Given the description of an element on the screen output the (x, y) to click on. 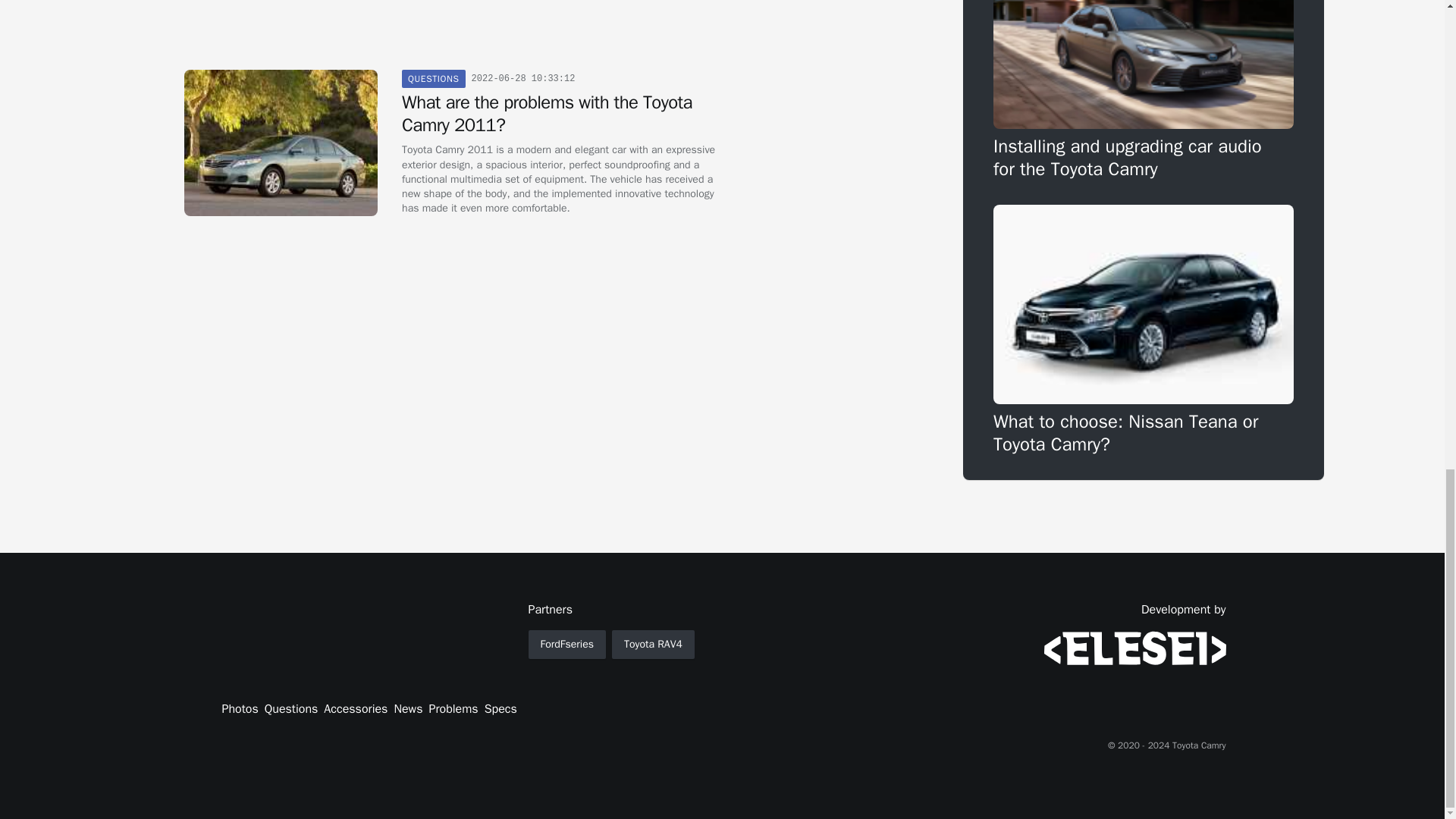
Installing and upgrading car audio for the Toyota Camry (1143, 90)
Specs (500, 708)
What to choose: Nissan Teana or Toyota Camry? (1143, 330)
Installing and upgrading car audio for the Toyota Camry (1143, 90)
Questions (291, 708)
What to choose: Nissan Teana or Toyota Camry? (1143, 330)
FordFseries (566, 644)
Problems (452, 708)
Toyota RAV4 (652, 644)
Accessories (355, 708)
Photos (239, 708)
News (407, 708)
